Given the description of an element on the screen output the (x, y) to click on. 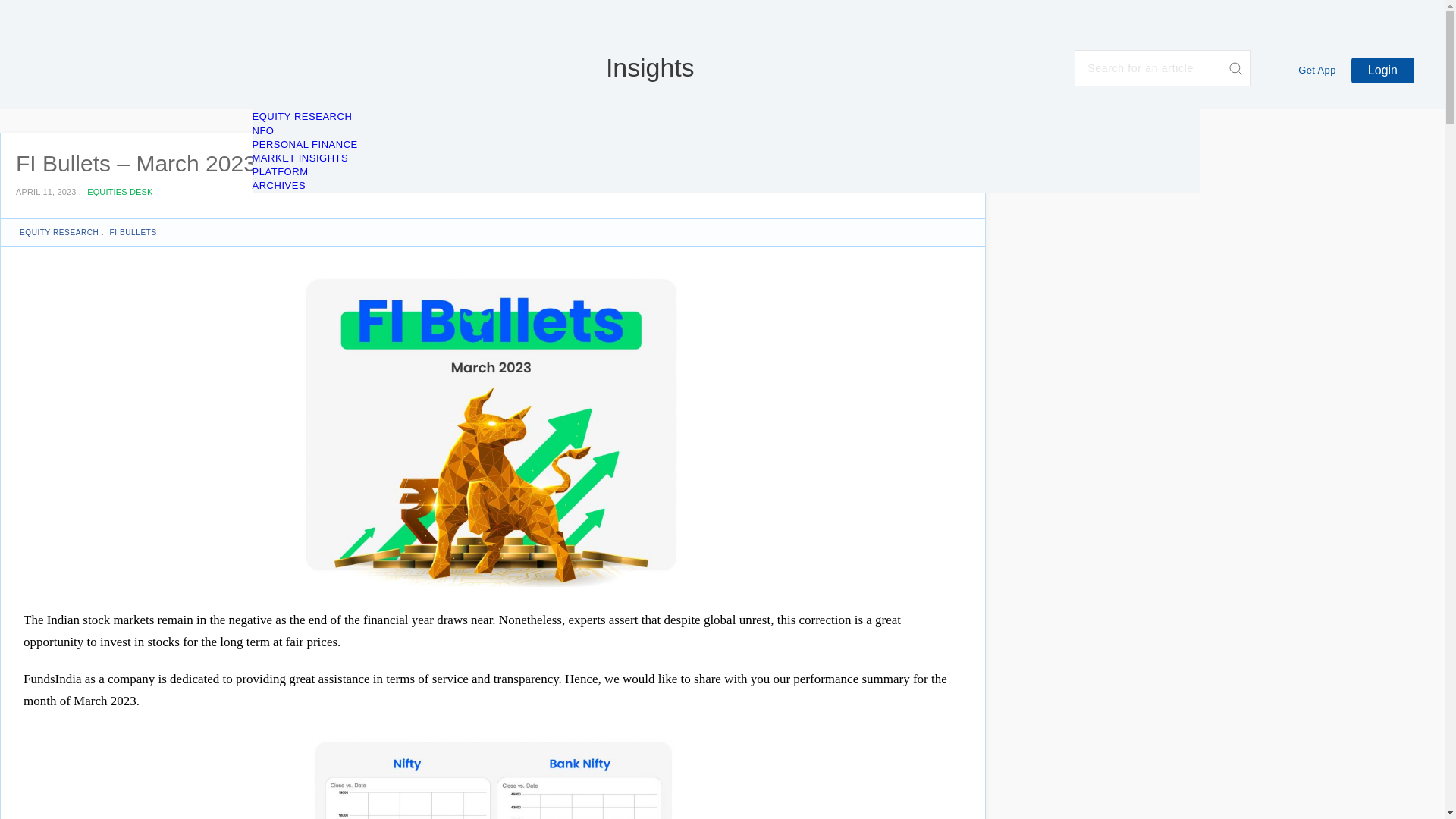
MUTUAL FUND BASICS (309, 89)
Login (1382, 70)
FI BULLETS (131, 232)
MUTUAL FUND RESEARCH (319, 102)
EQUITY RESEARCH (301, 116)
EQUITIES DESK (117, 191)
EQUITY RESEARCH (57, 232)
MARKET INSIGHTS (299, 157)
ARCHIVES (278, 184)
Search for: (1162, 67)
NFO (262, 130)
